Given the description of an element on the screen output the (x, y) to click on. 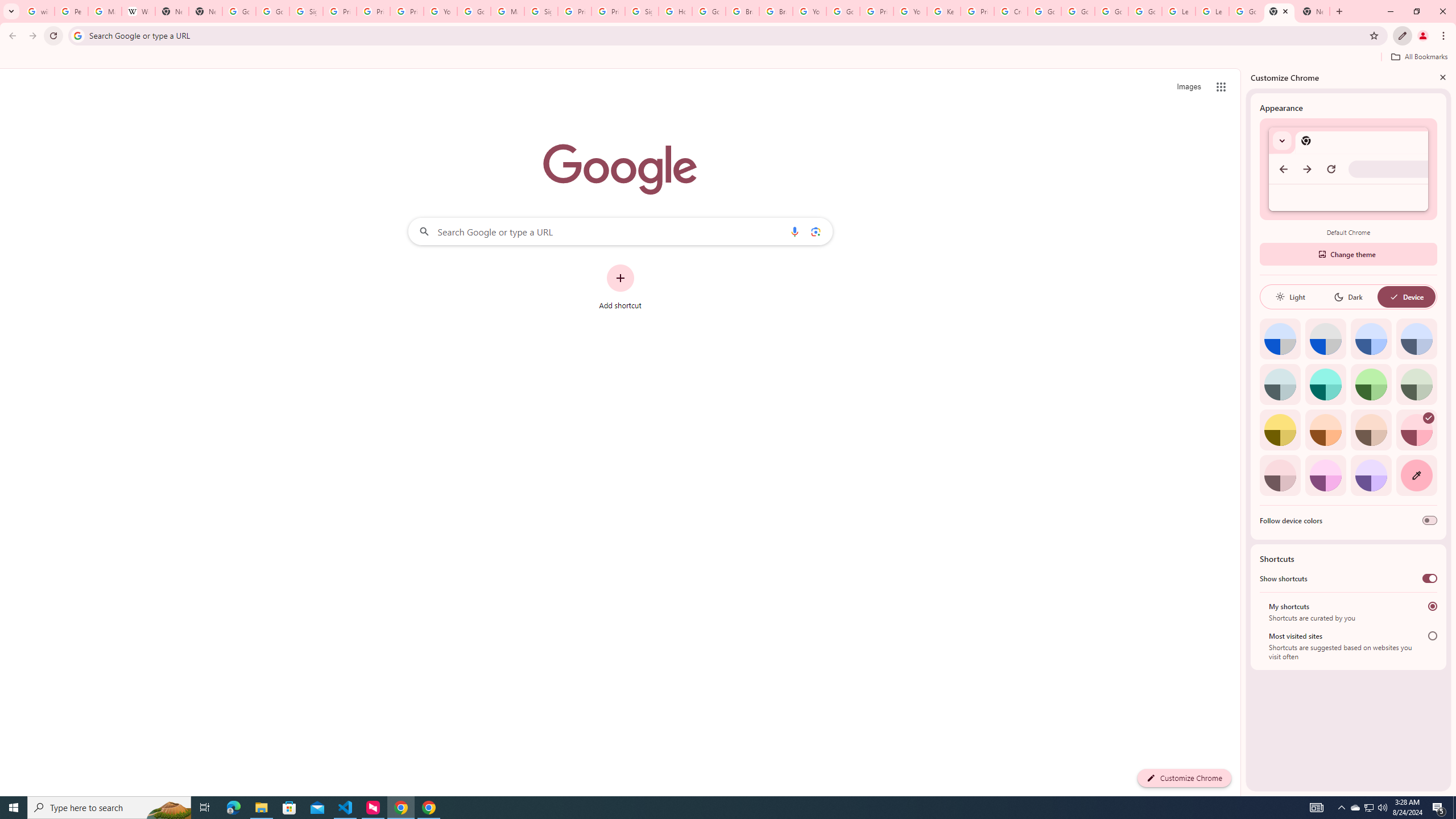
Show shortcuts (1429, 578)
YouTube (809, 11)
My shortcuts (1432, 605)
Violet (1371, 475)
Fuchsia (1325, 475)
Create your Google Account (1010, 11)
Follow device colors (1429, 519)
Default color (1279, 338)
New Tab (1279, 11)
Pink (1279, 475)
